Given the description of an element on the screen output the (x, y) to click on. 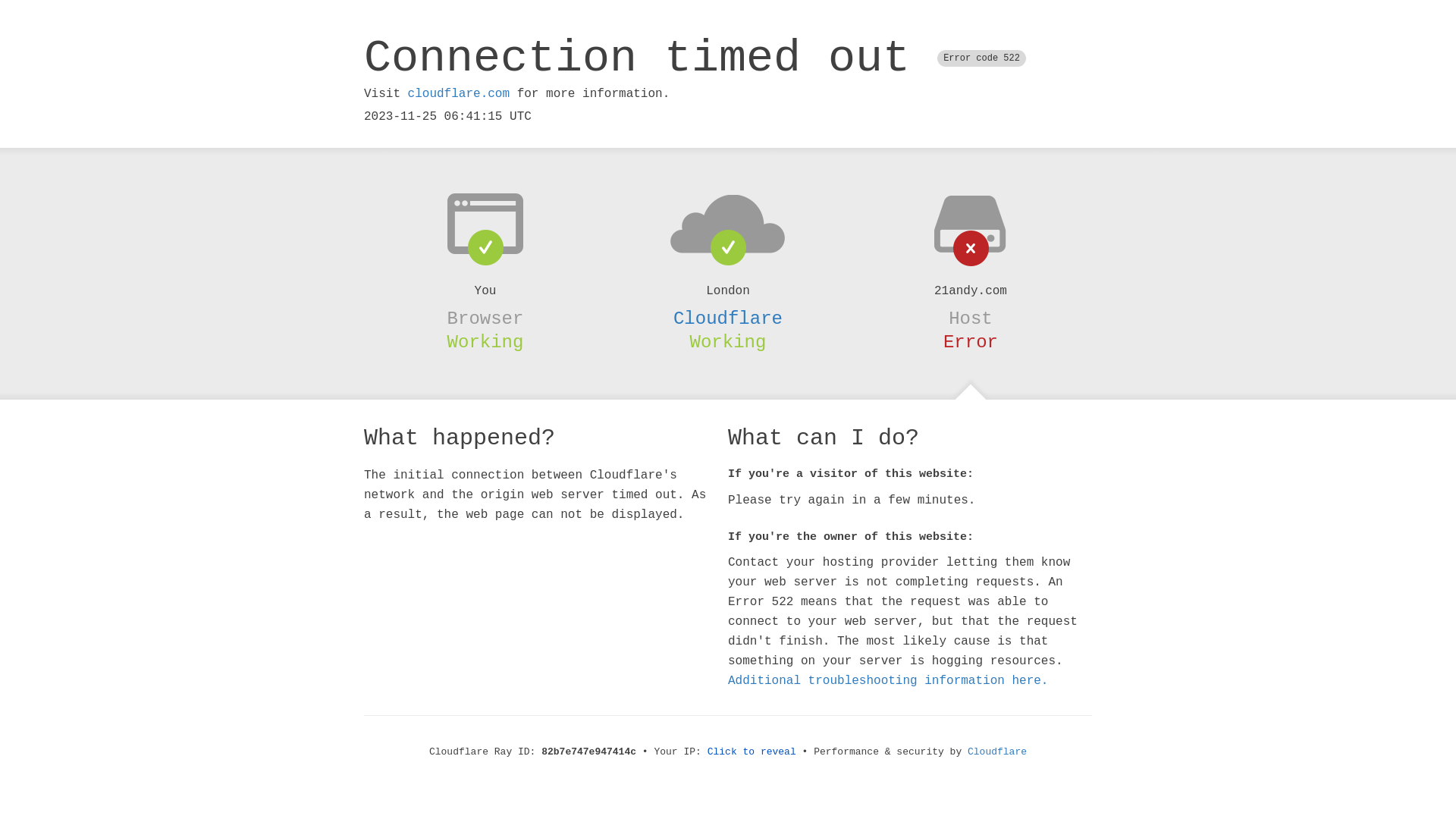
Click to reveal Element type: text (751, 751)
Additional troubleshooting information here. Element type: text (888, 680)
cloudflare.com Element type: text (458, 93)
Cloudflare Element type: text (727, 318)
Cloudflare Element type: text (996, 751)
